Given the description of an element on the screen output the (x, y) to click on. 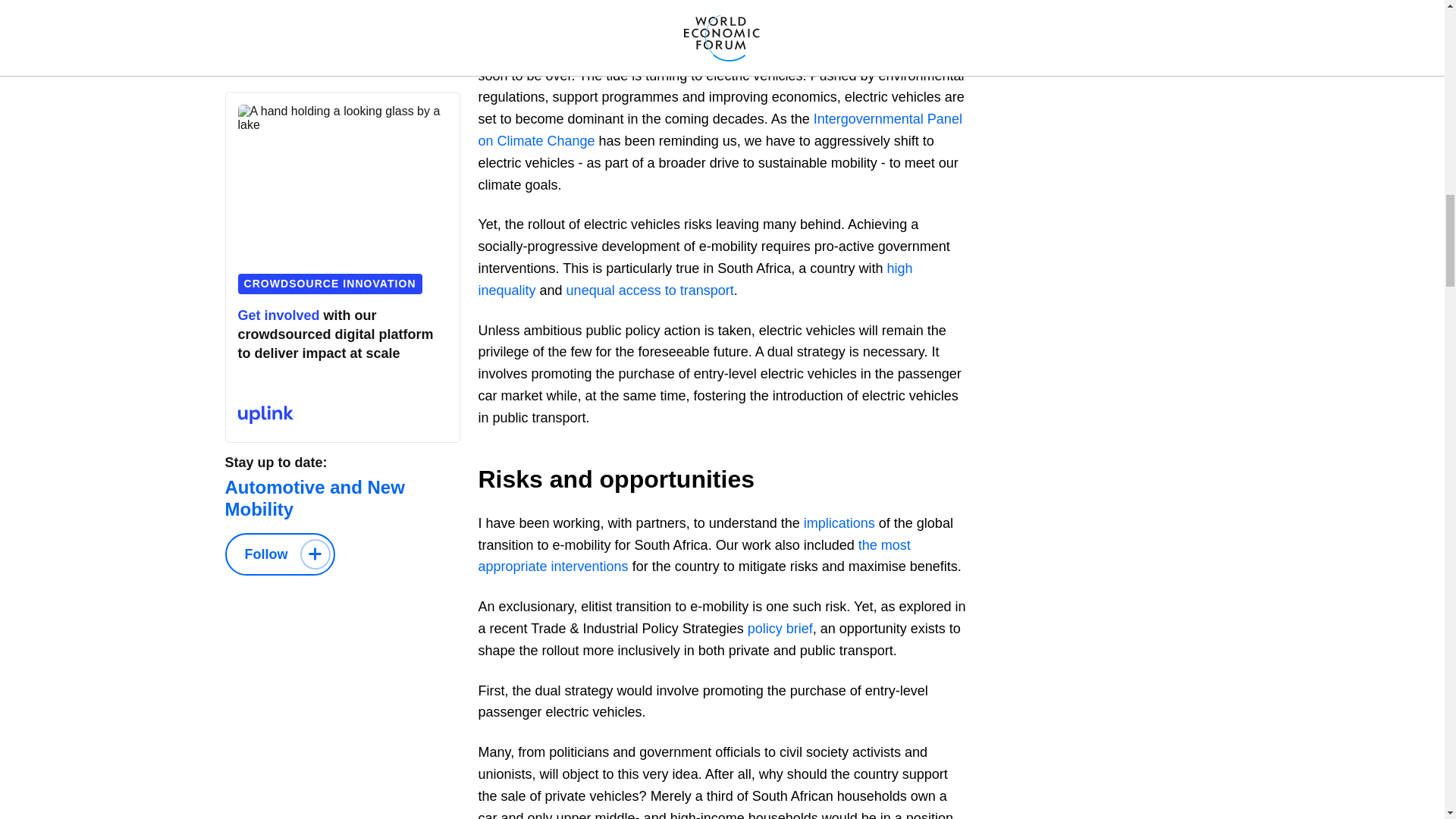
Follow (279, 554)
implications (839, 522)
Intergovernmental Panel on Climate Change (718, 129)
high inequality (694, 279)
unequal access to transport (649, 290)
the most appropriate interventions (693, 555)
policy brief (780, 628)
on the road before declining (793, 13)
